Given the description of an element on the screen output the (x, y) to click on. 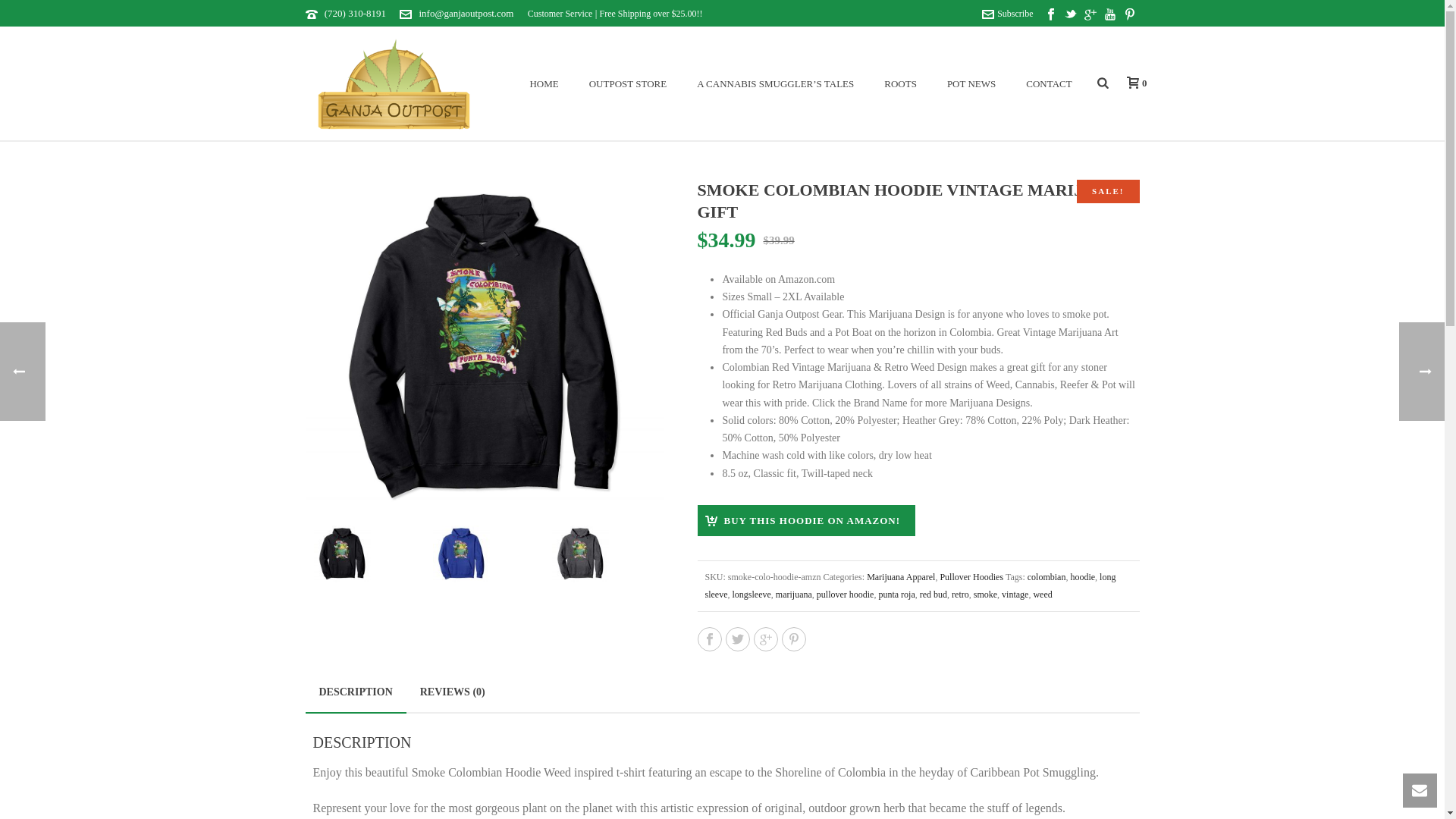
Customer Service (559, 13)
HOME (543, 84)
CONTACT (1048, 84)
OUTPOST STORE (627, 84)
royal-bl-smoke-colo-hoodie (460, 553)
dark-heather-smoke-colo-hoodie (579, 553)
Subscribe (1006, 13)
HOME (543, 84)
The Original Counter Culture Brand (392, 83)
POT NEWS (970, 84)
